Given the description of an element on the screen output the (x, y) to click on. 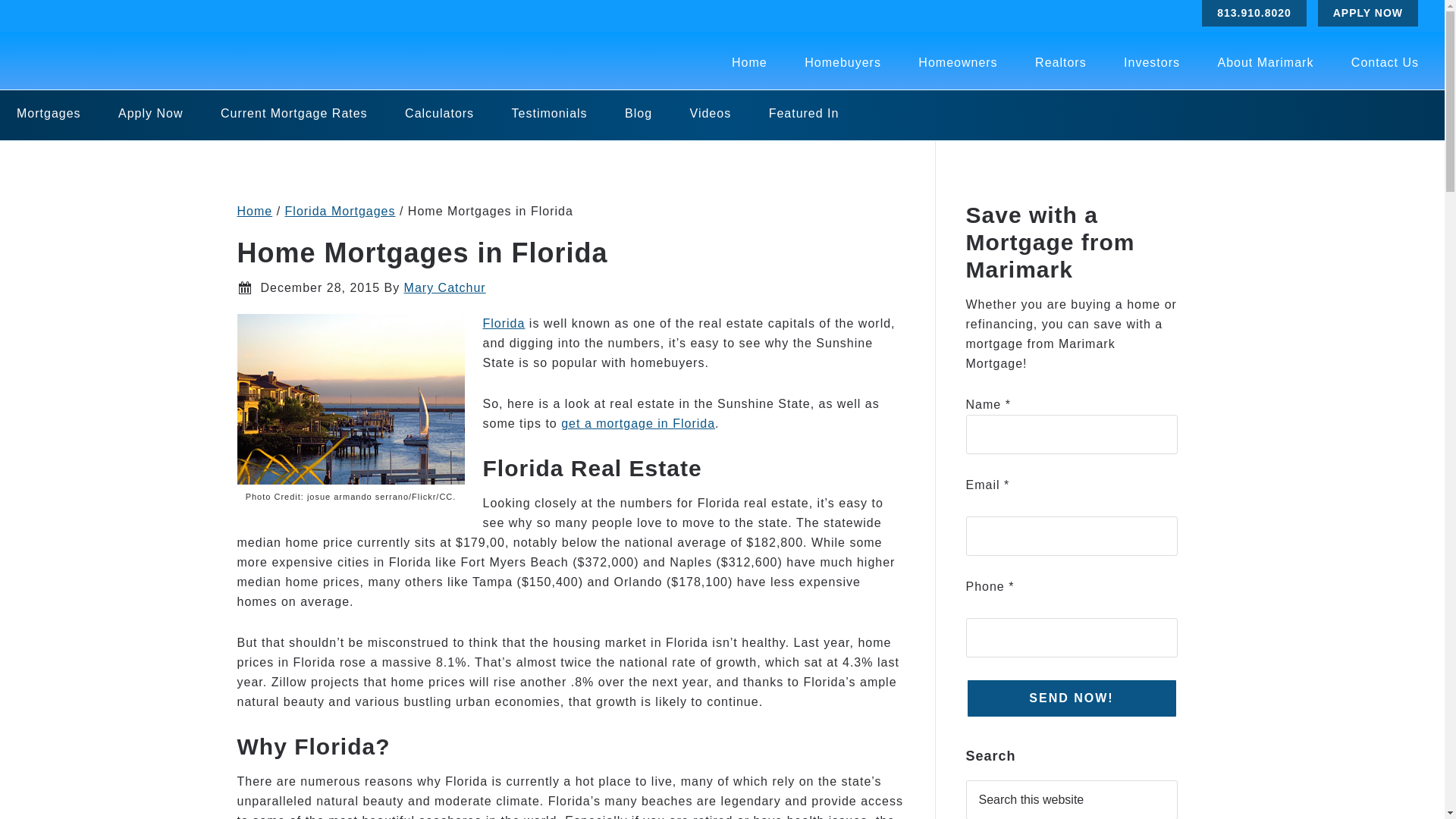
Florida Mortgages (340, 210)
About Marimark (1264, 62)
Home (749, 62)
Investors (1151, 62)
Videos (710, 113)
Florida (502, 323)
Apply Now (150, 113)
Homeowners (957, 62)
Homebuyers (842, 62)
Featured In (804, 113)
Mortgages (48, 113)
get a mortgage in Florida (637, 422)
Send Now! (1071, 698)
Testimonials (549, 113)
